Given the description of an element on the screen output the (x, y) to click on. 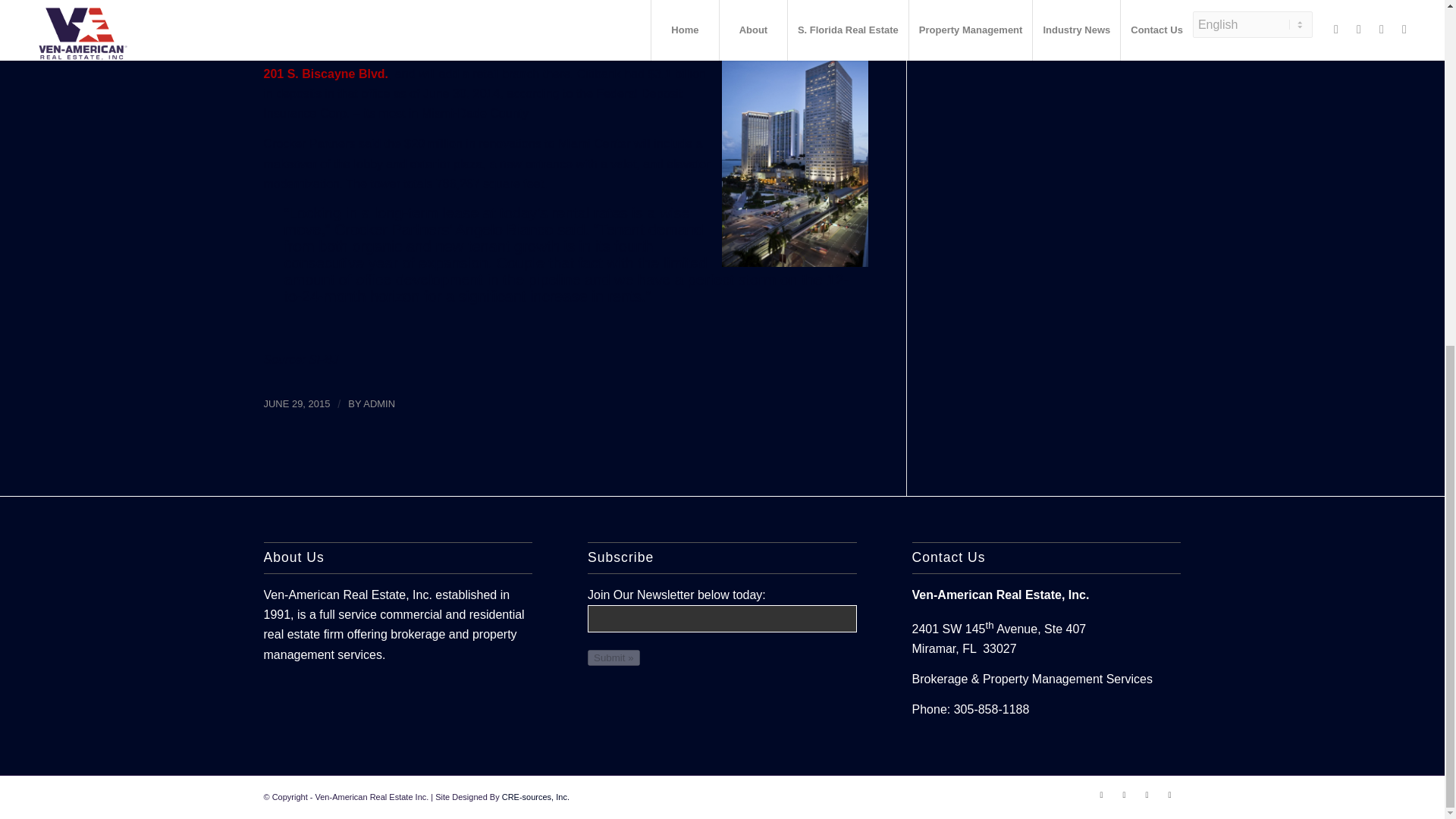
Posts by ADMIN (378, 403)
Twitter (1124, 793)
LinkedIn (1146, 793)
Rss (1169, 793)
ADMIN (378, 403)
SFBJ (322, 359)
Facebook (1101, 793)
CRE-sources, Inc. (535, 796)
